Given the description of an element on the screen output the (x, y) to click on. 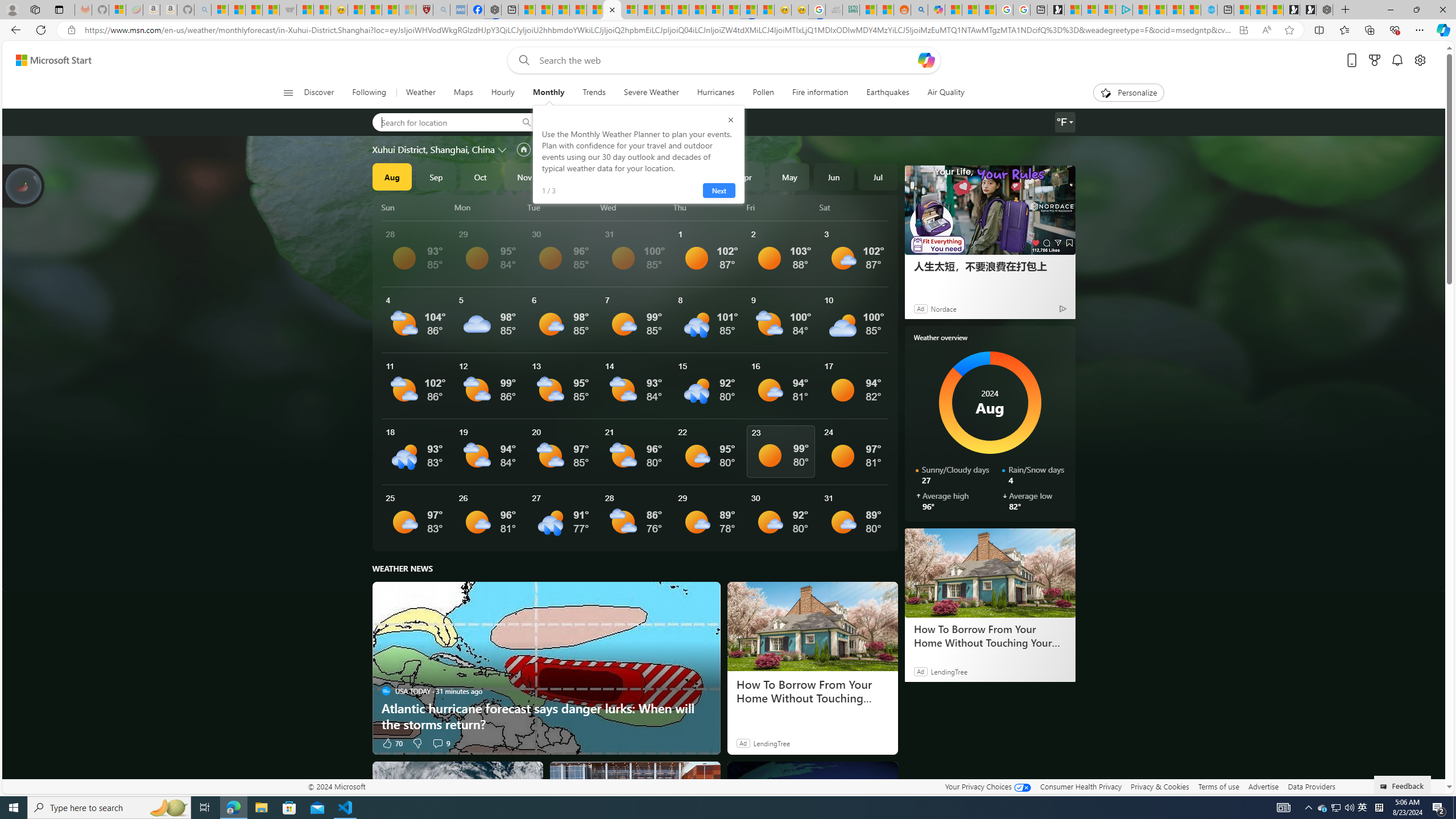
Recipes - MSN (356, 9)
Sep (435, 176)
Hurricanes (716, 92)
Fire information (820, 92)
Change location (503, 149)
Privacy & Cookies (1160, 786)
Earthquakes (888, 92)
Data Providers (1311, 786)
